Given the description of an element on the screen output the (x, y) to click on. 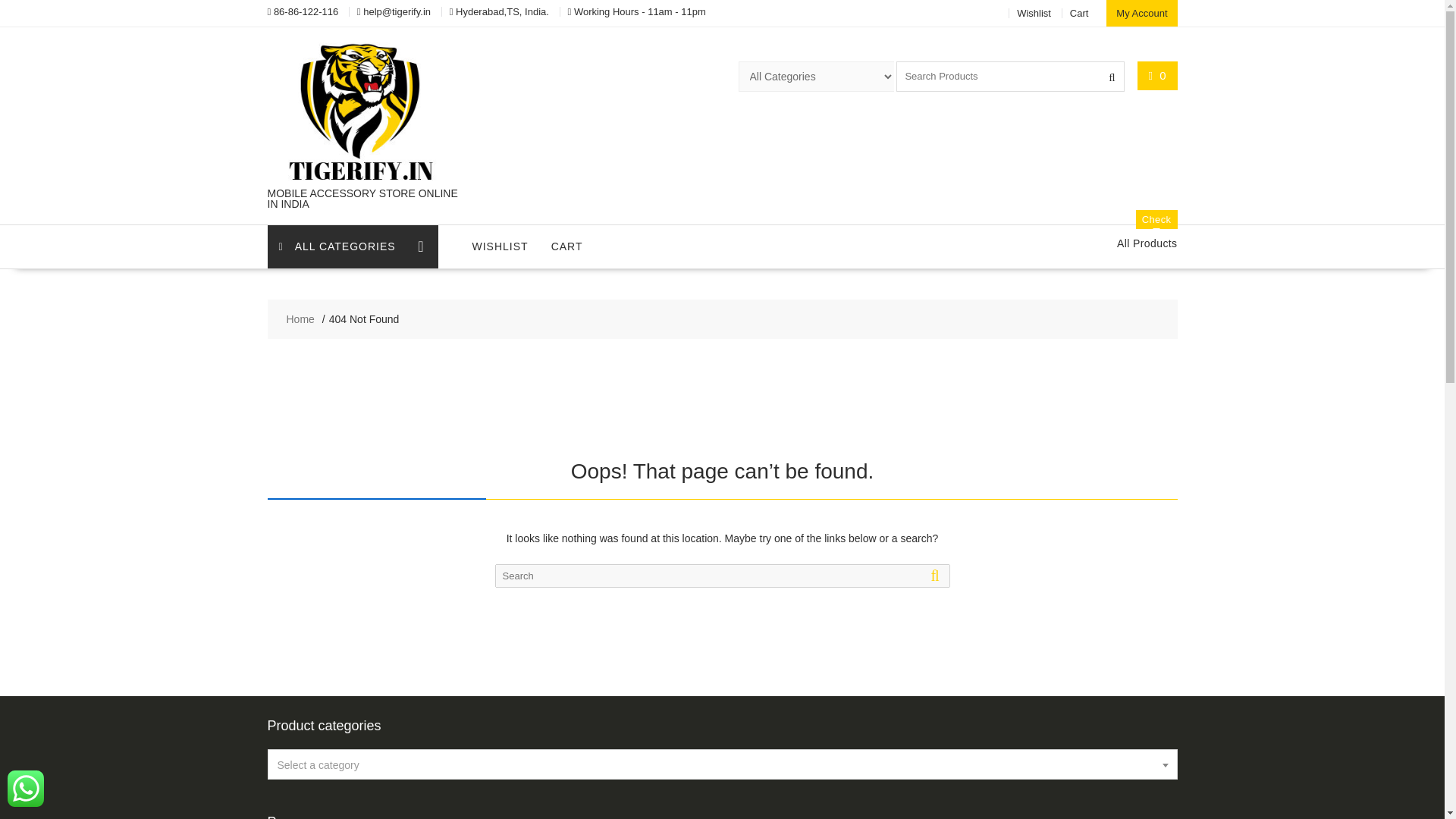
ALL CATEGORIES (352, 246)
Cart (1146, 243)
0 (1079, 12)
My Account (1157, 74)
WISHLIST (1141, 13)
Home (500, 246)
CART (300, 319)
Wishlist (567, 246)
